Given the description of an element on the screen output the (x, y) to click on. 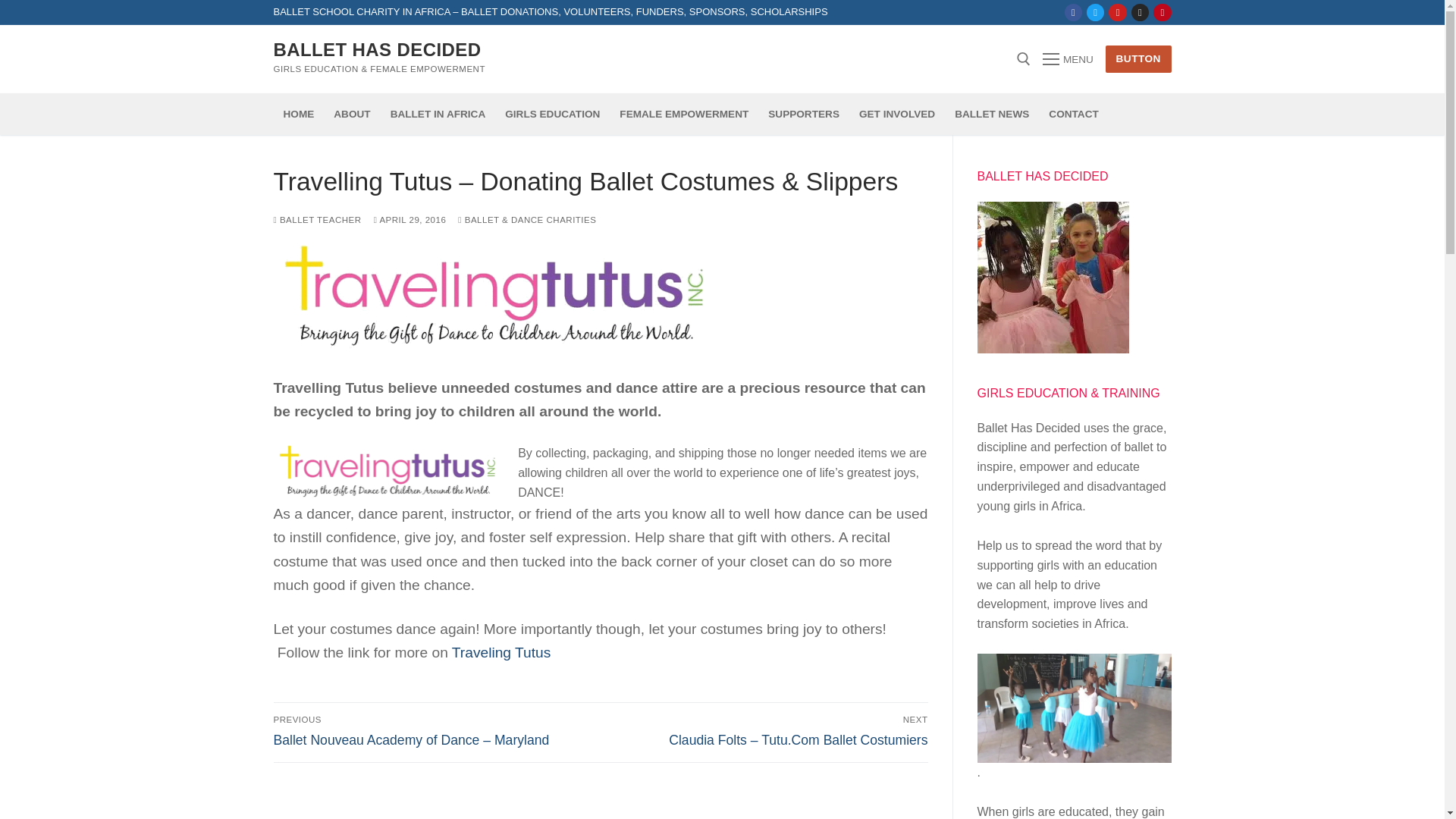
Twitter (1095, 12)
CONTACT (1073, 113)
FEMALE EMPOWERMENT (684, 113)
BALLET NEWS (991, 113)
SUPPORTERS (803, 113)
GIRLS EDUCATION (552, 113)
BALLET TEACHER (317, 219)
Traveling Tutus (500, 652)
GET INVOLVED (896, 113)
BALLET IN AFRICA (438, 113)
